Given the description of an element on the screen output the (x, y) to click on. 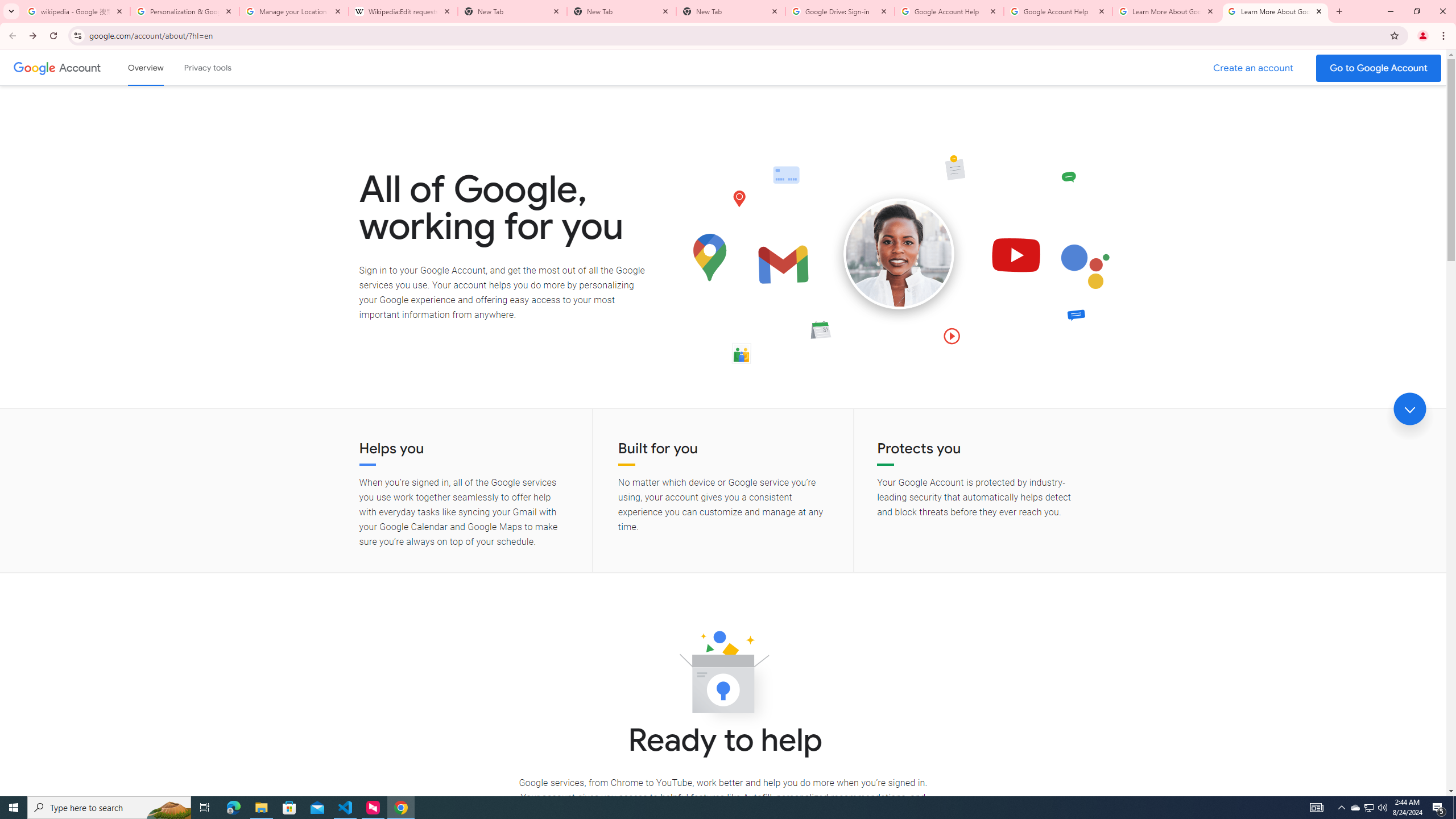
Personalization & Google Search results - Google Search Help (184, 11)
Wikipedia:Edit requests - Wikipedia (403, 11)
New Tab (730, 11)
Skip to Content (162, 65)
Jump link (1409, 408)
Google Account overview (145, 67)
